Given the description of an element on the screen output the (x, y) to click on. 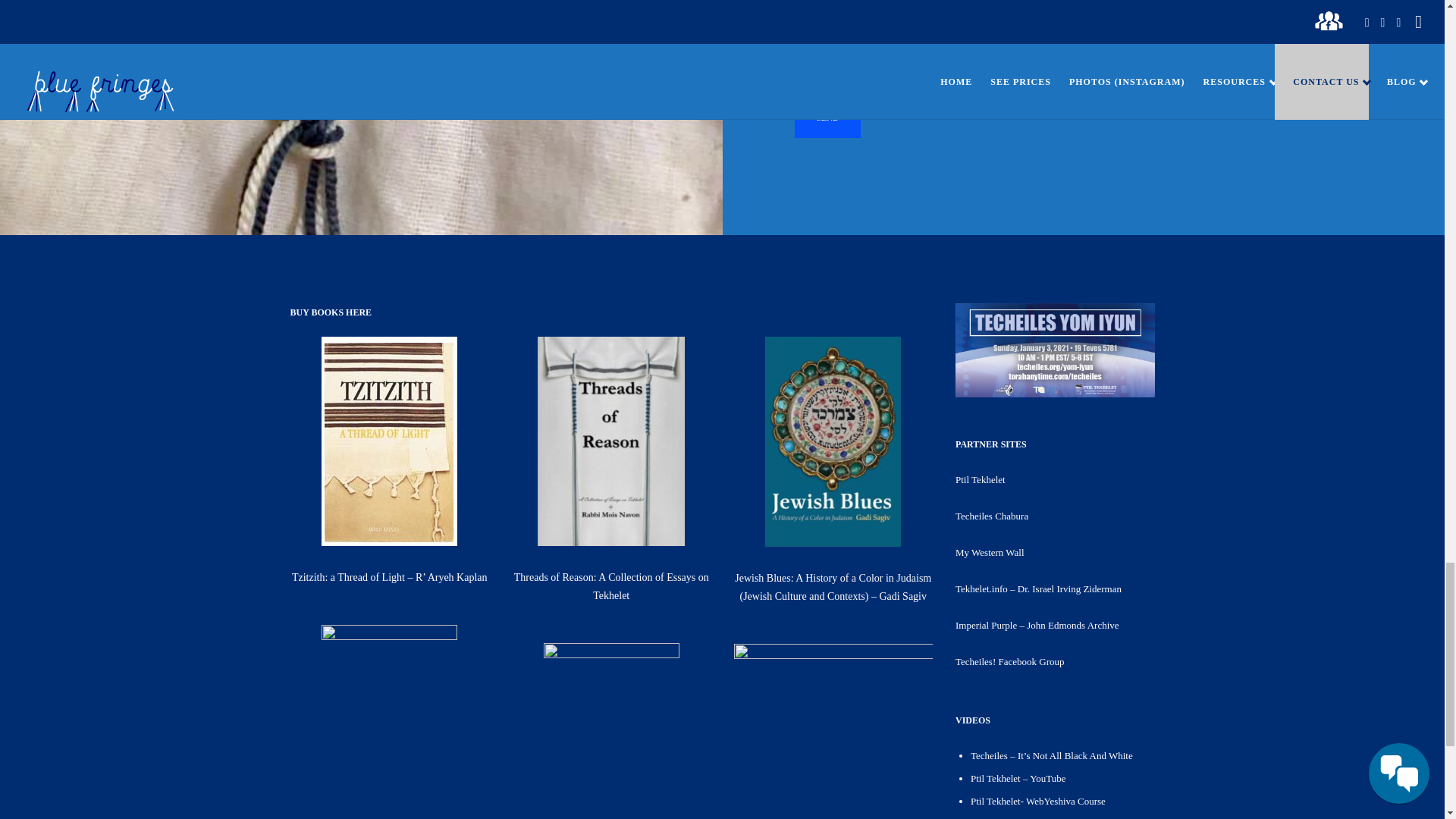
Send (827, 117)
